Given the description of an element on the screen output the (x, y) to click on. 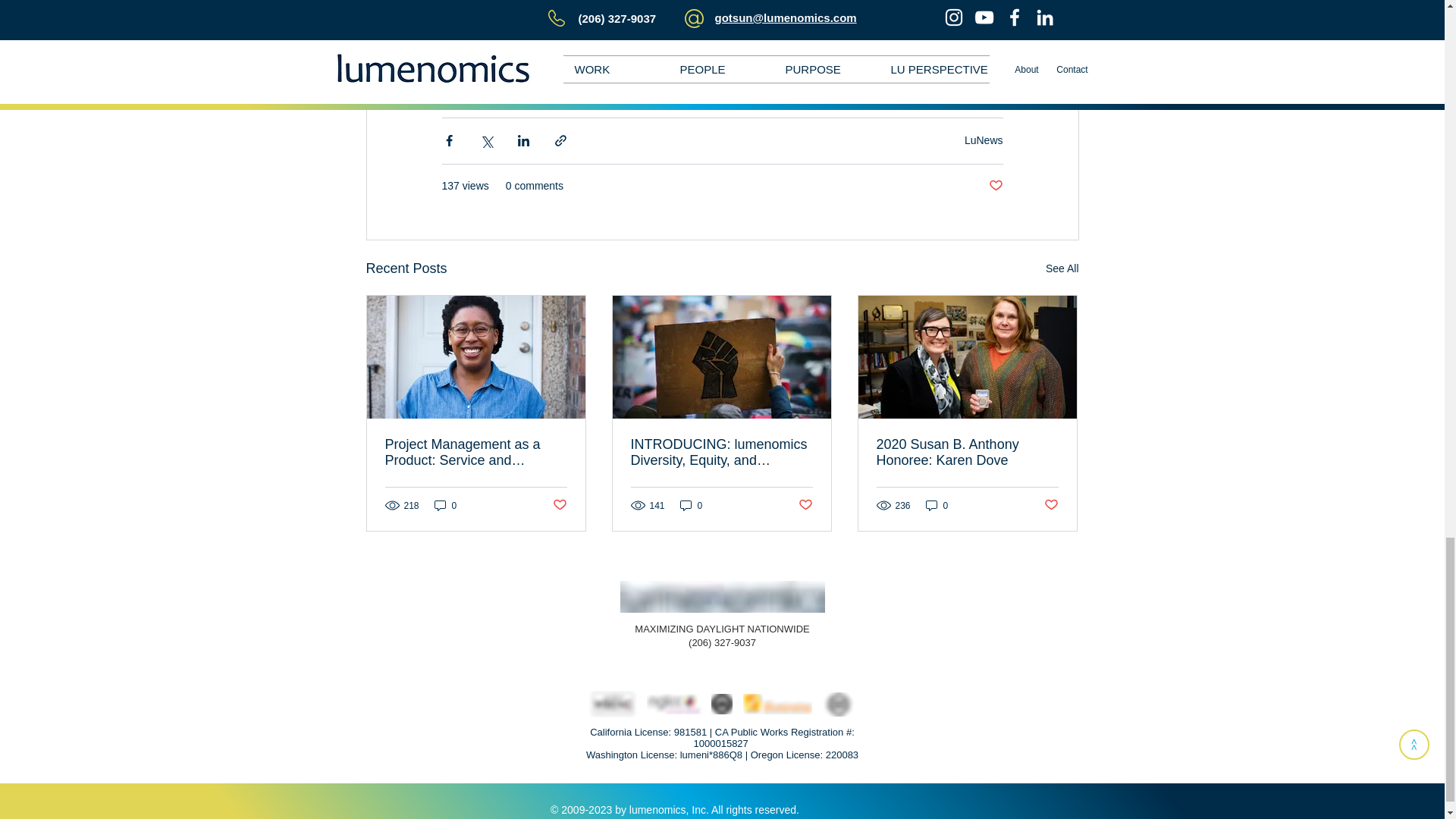
LuNews (983, 140)
See All (1061, 268)
Post not marked as liked (995, 185)
